Given the description of an element on the screen output the (x, y) to click on. 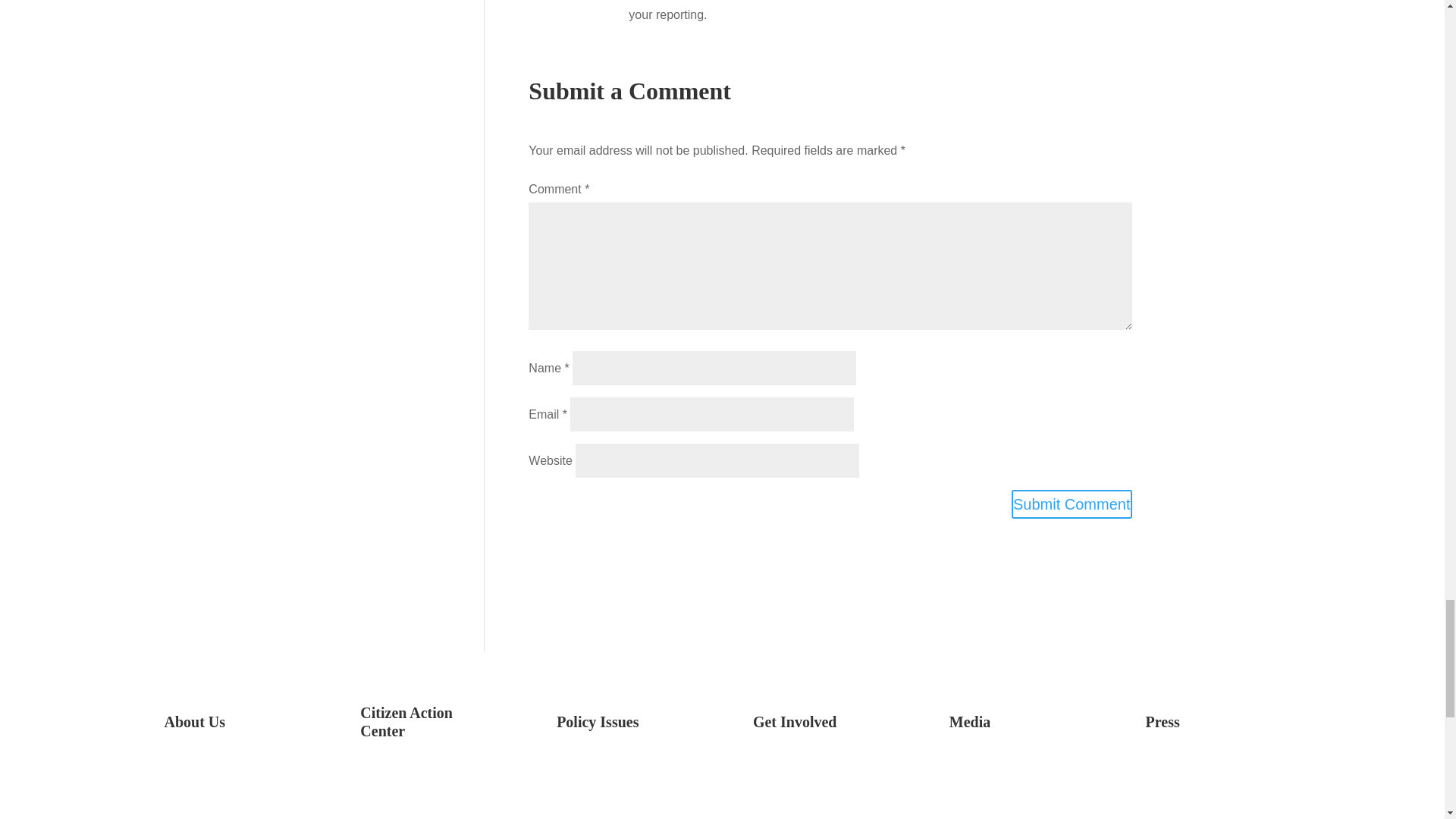
Submit Comment (1071, 503)
